Given the description of an element on the screen output the (x, y) to click on. 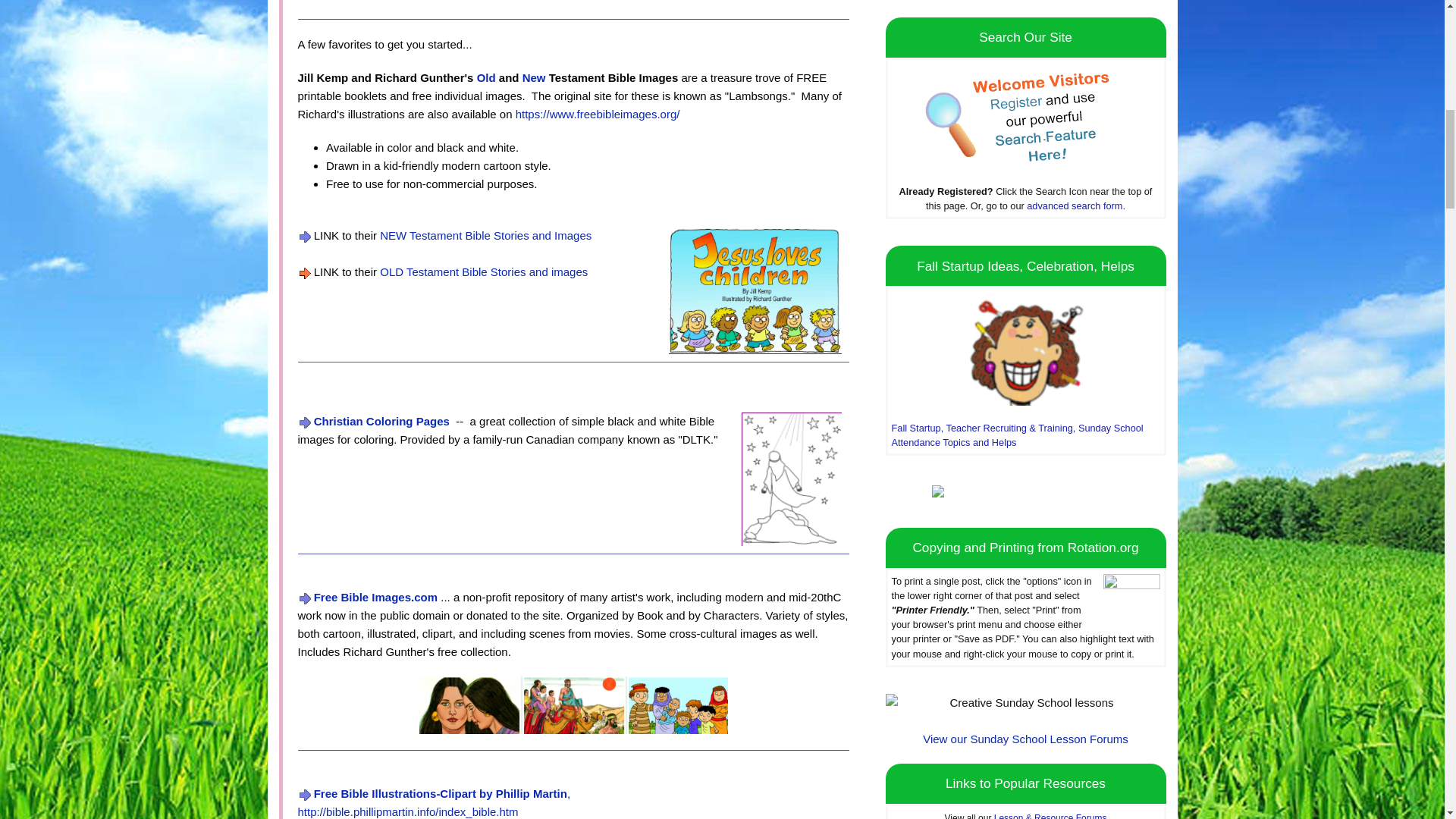
bluarro (304, 794)
bluarro (304, 236)
bluarro (304, 422)
arroworange (304, 273)
bluarro (304, 598)
